Given the description of an element on the screen output the (x, y) to click on. 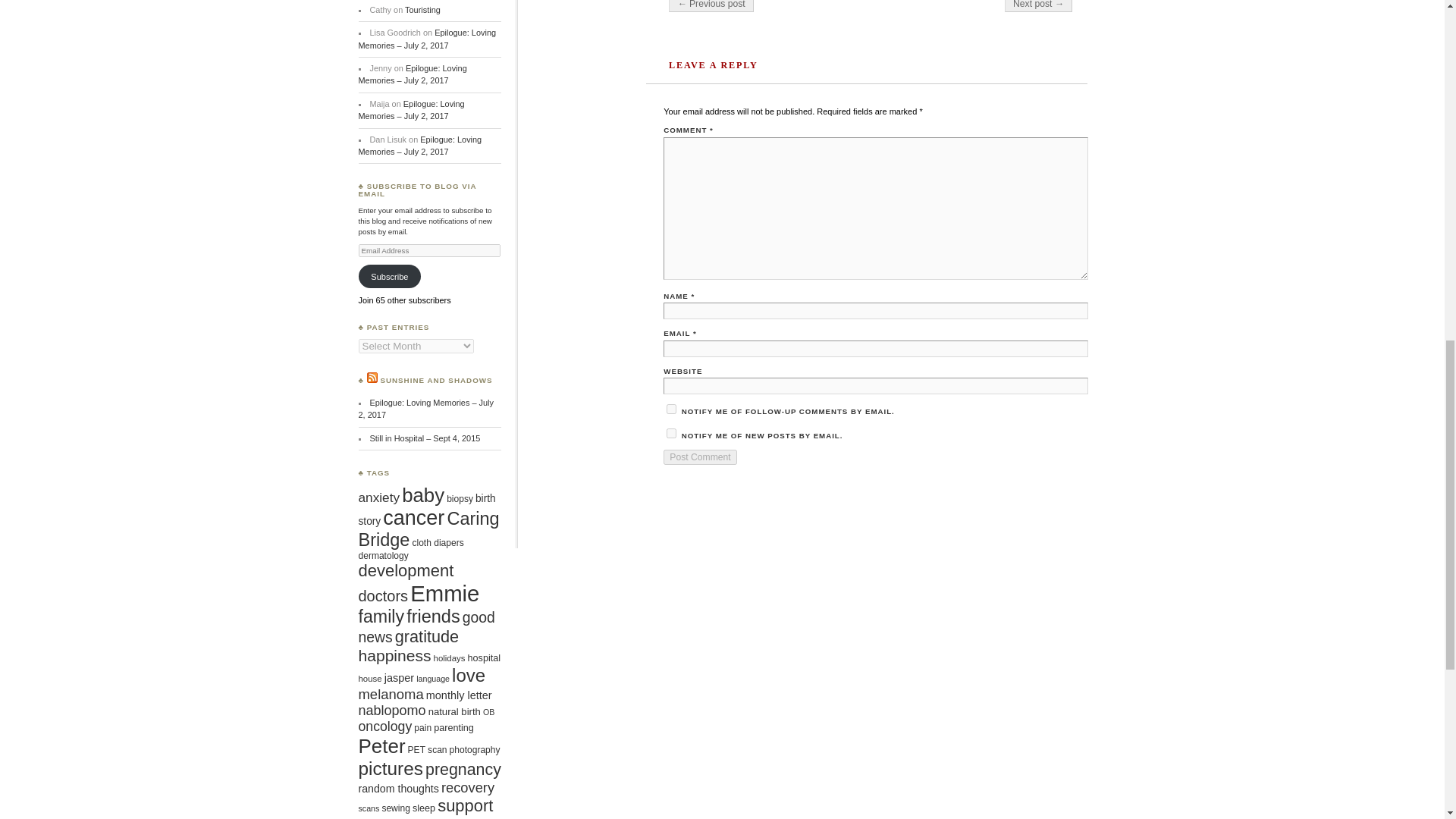
subscribe (671, 433)
subscribe (671, 409)
Touristing (422, 9)
Post Comment (699, 457)
Post Comment (699, 457)
Subscribe (389, 276)
